Given the description of an element on the screen output the (x, y) to click on. 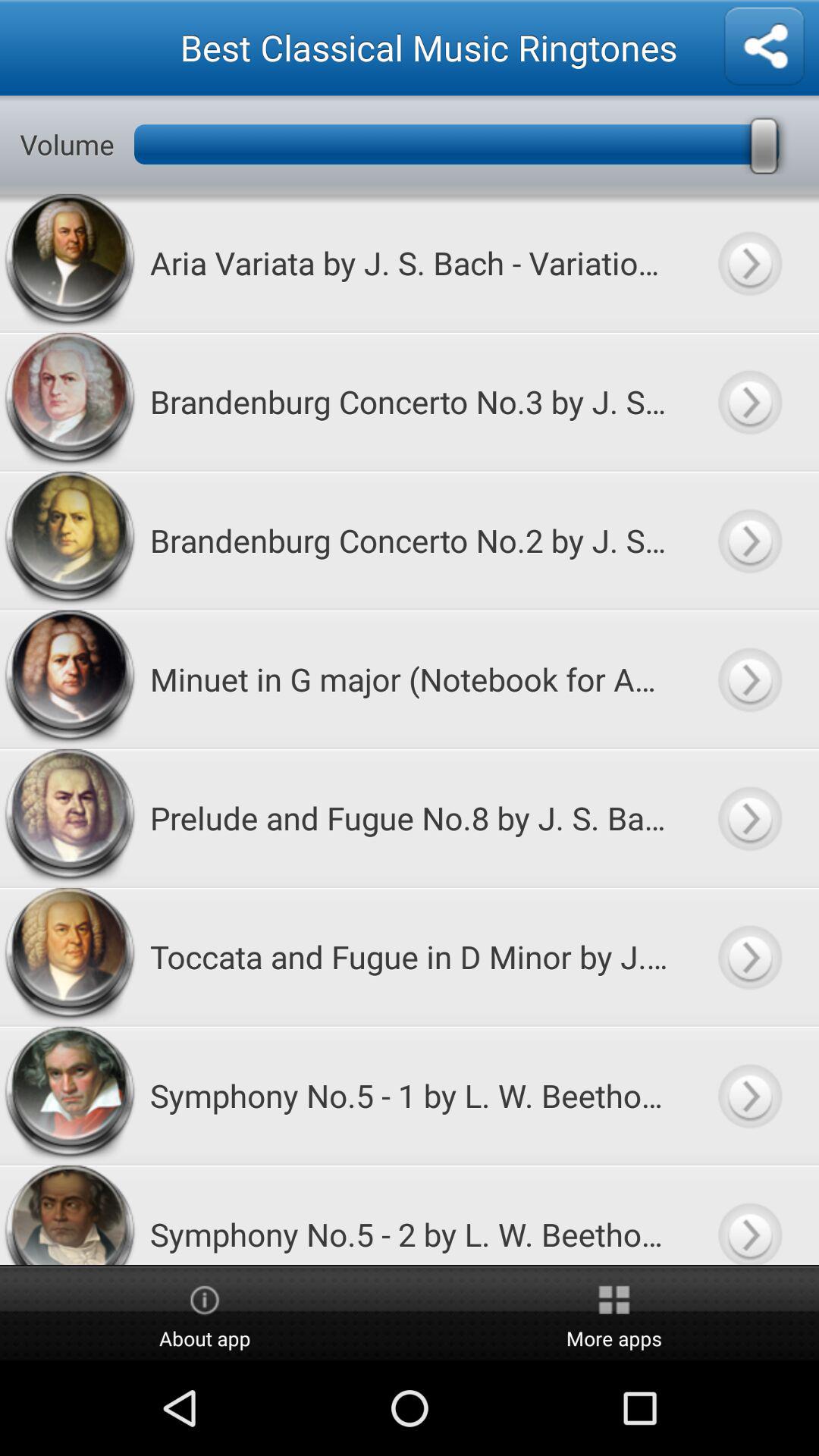
play ringtone (749, 818)
